Given the description of an element on the screen output the (x, y) to click on. 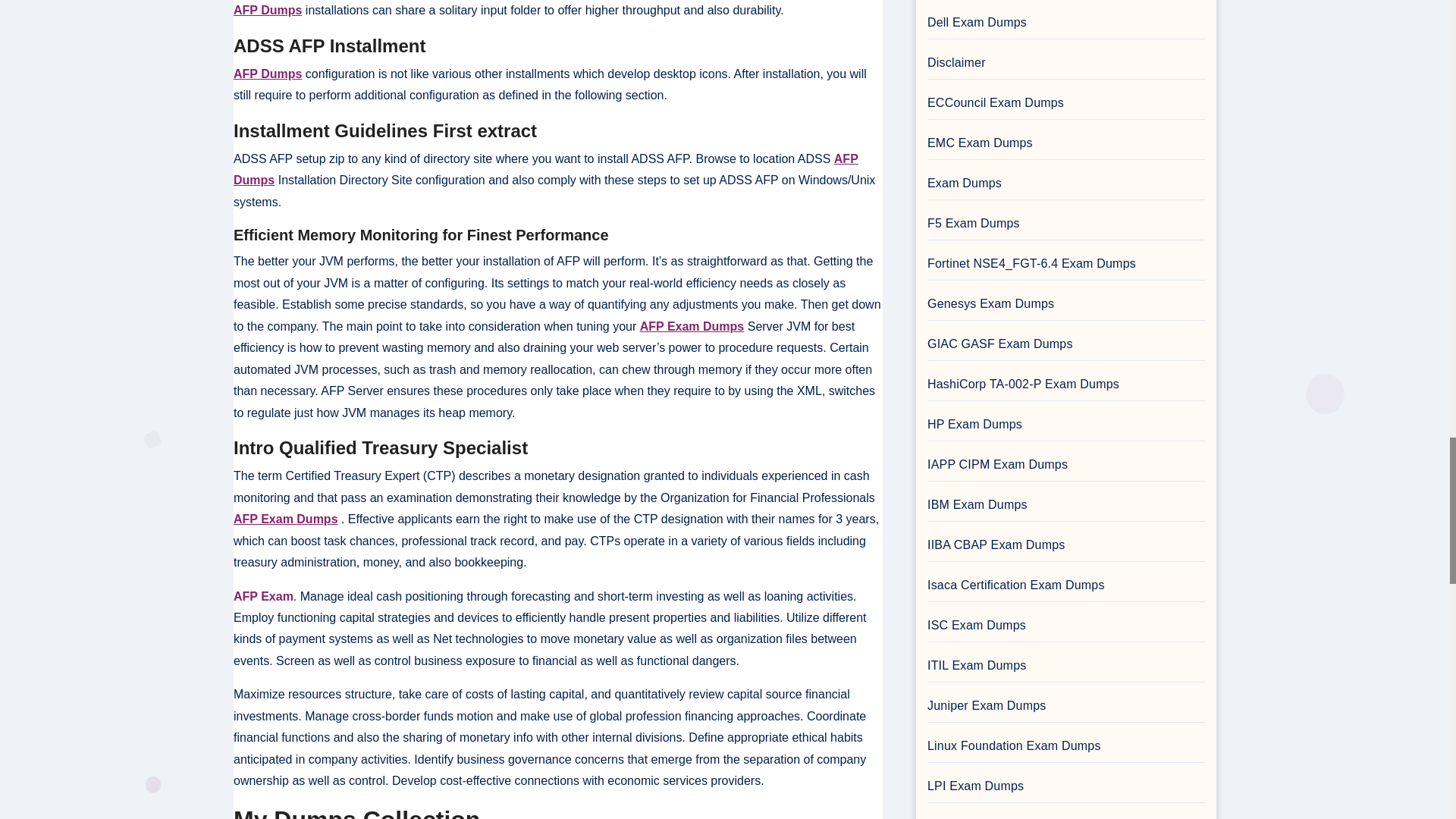
AFP Exam Dumps (284, 518)
AFP Dumps (545, 169)
AFP Exam (263, 595)
AFP Dumps (266, 10)
AFP Exam Dumps (692, 326)
AFP Dumps (266, 73)
